Given the description of an element on the screen output the (x, y) to click on. 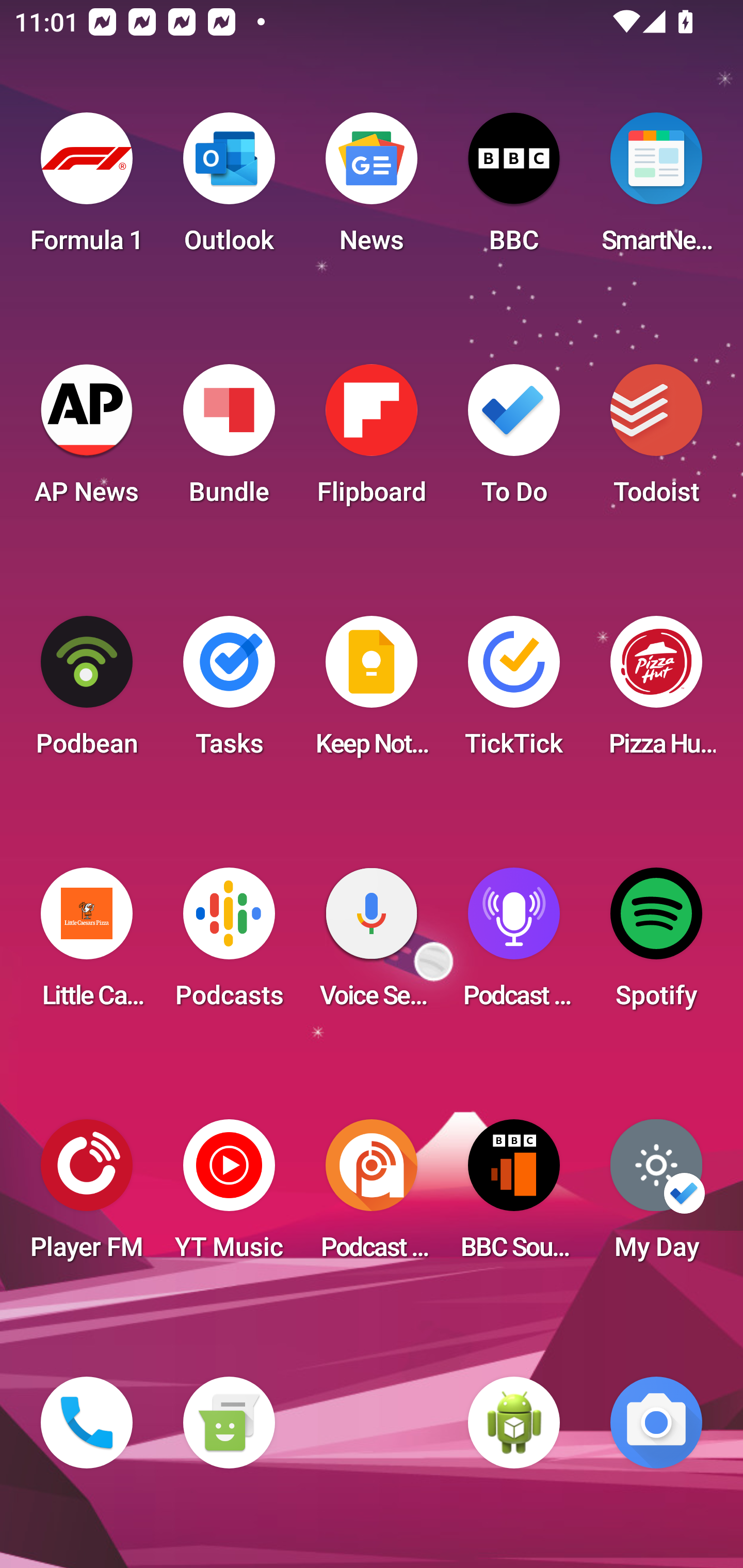
Formula 1 (86, 188)
Outlook (228, 188)
News (371, 188)
BBC (513, 188)
SmartNews (656, 188)
AP News (86, 440)
Bundle (228, 440)
Flipboard (371, 440)
To Do (513, 440)
Todoist (656, 440)
Podbean (86, 692)
Tasks (228, 692)
Keep Notes (371, 692)
TickTick (513, 692)
Pizza Hut HK & Macau (656, 692)
Little Caesars Pizza (86, 943)
Podcasts (228, 943)
Voice Search (371, 943)
Podcast Player (513, 943)
Spotify (656, 943)
Player FM (86, 1195)
YT Music (228, 1195)
Podcast Addict (371, 1195)
BBC Sounds (513, 1195)
My Day (656, 1195)
Phone (86, 1422)
Messaging (228, 1422)
WebView Browser Tester (513, 1422)
Camera (656, 1422)
